Given the description of an element on the screen output the (x, y) to click on. 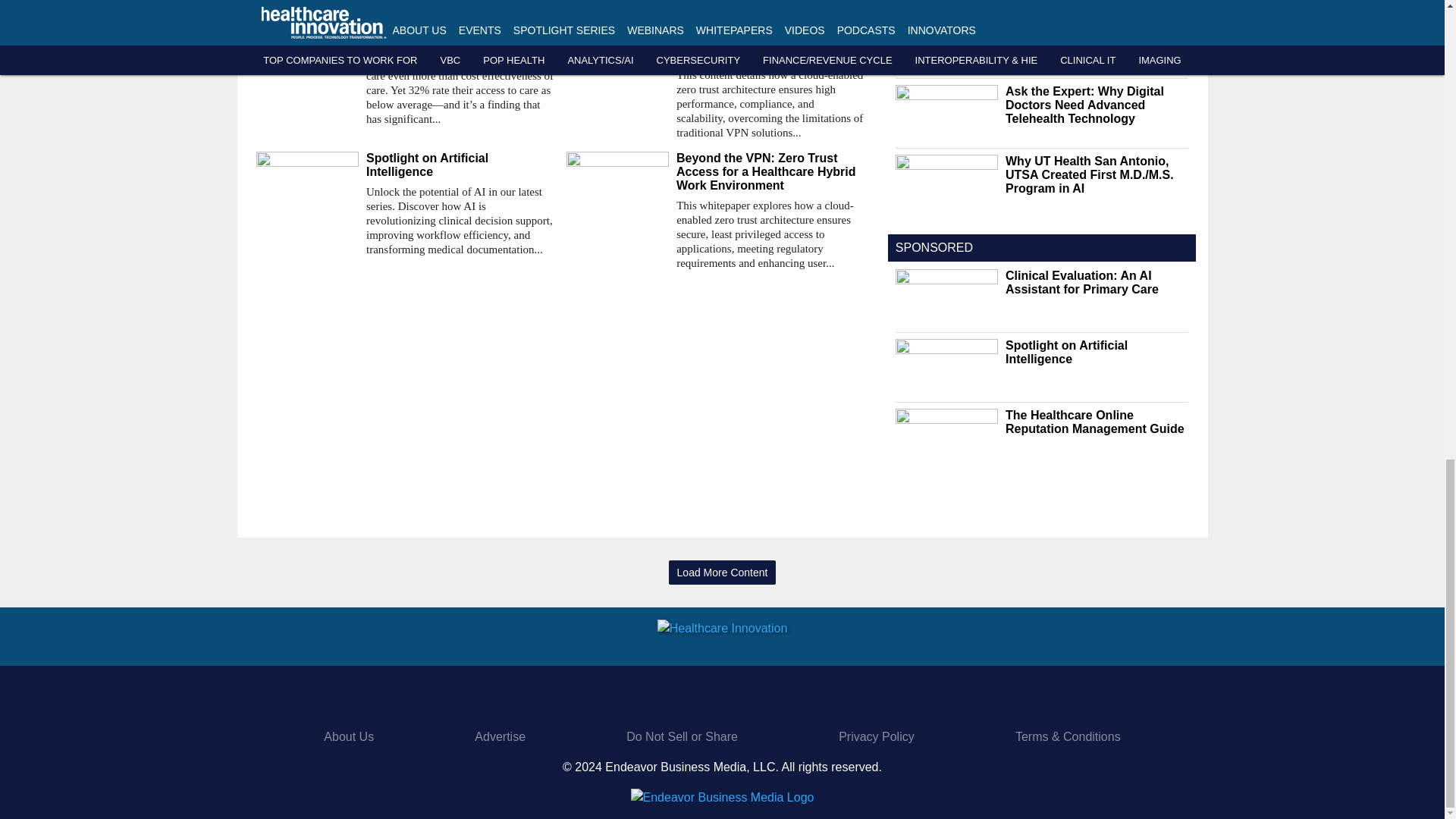
Improve patient access: key drivers for efficient operations (459, 34)
Spotlight on Artificial Intelligence (459, 165)
